Given the description of an element on the screen output the (x, y) to click on. 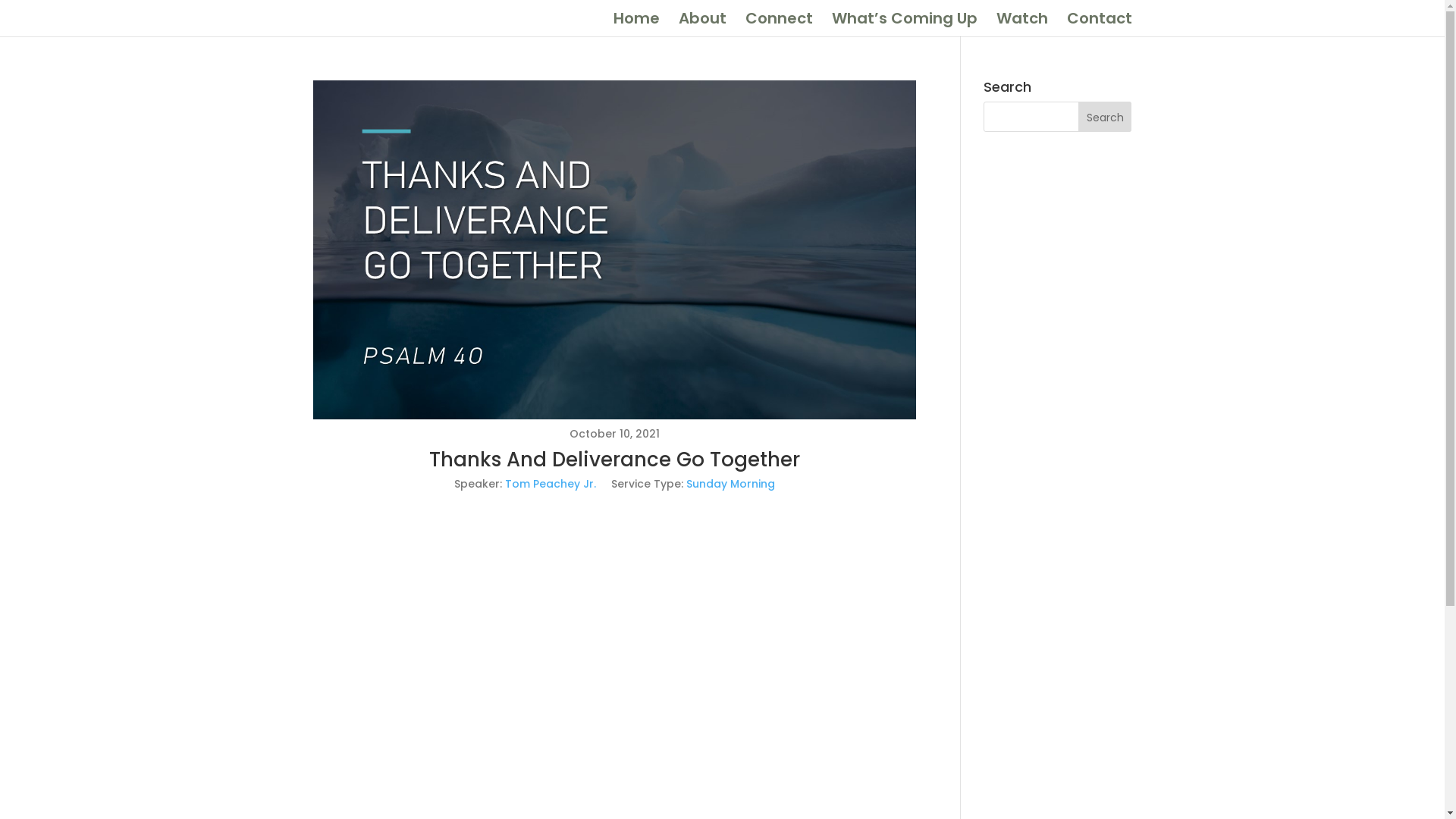
Search Element type: text (1104, 116)
Connect Element type: text (778, 24)
About Element type: text (701, 24)
Home Element type: text (635, 24)
Watch Element type: text (1022, 24)
Sunday Morning Element type: text (730, 483)
Tom Peachey Jr. Element type: text (550, 483)
Contact Element type: text (1098, 24)
